Given the description of an element on the screen output the (x, y) to click on. 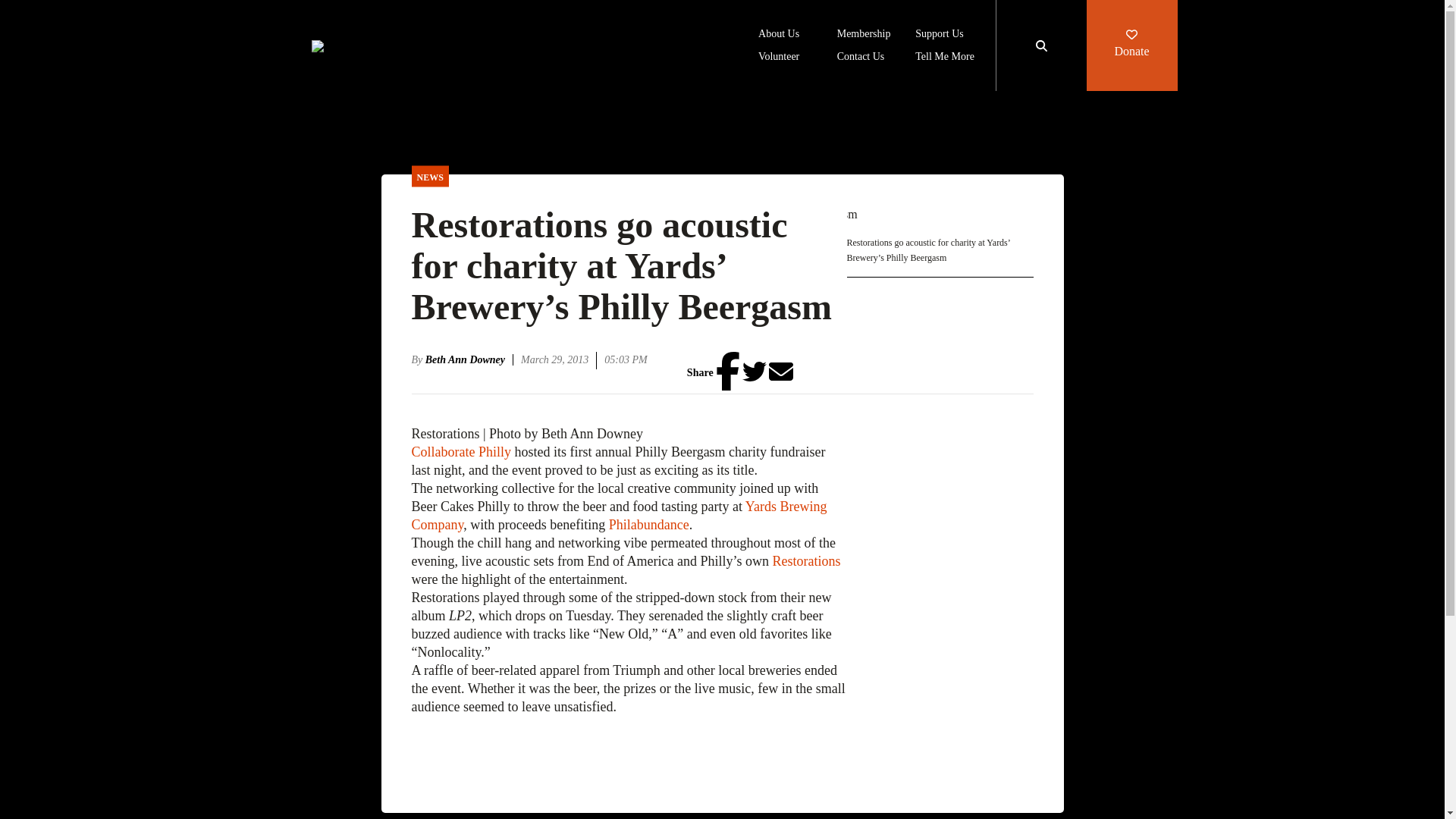
Volunteer (778, 57)
About Us (778, 35)
Yards Brewing Company (618, 515)
Contact Us (861, 57)
Restorations (805, 560)
Membership (864, 35)
Donate (1131, 45)
Collaborate Philly (460, 451)
Beth Ann Downey (469, 359)
Support Us (938, 35)
